Given the description of an element on the screen output the (x, y) to click on. 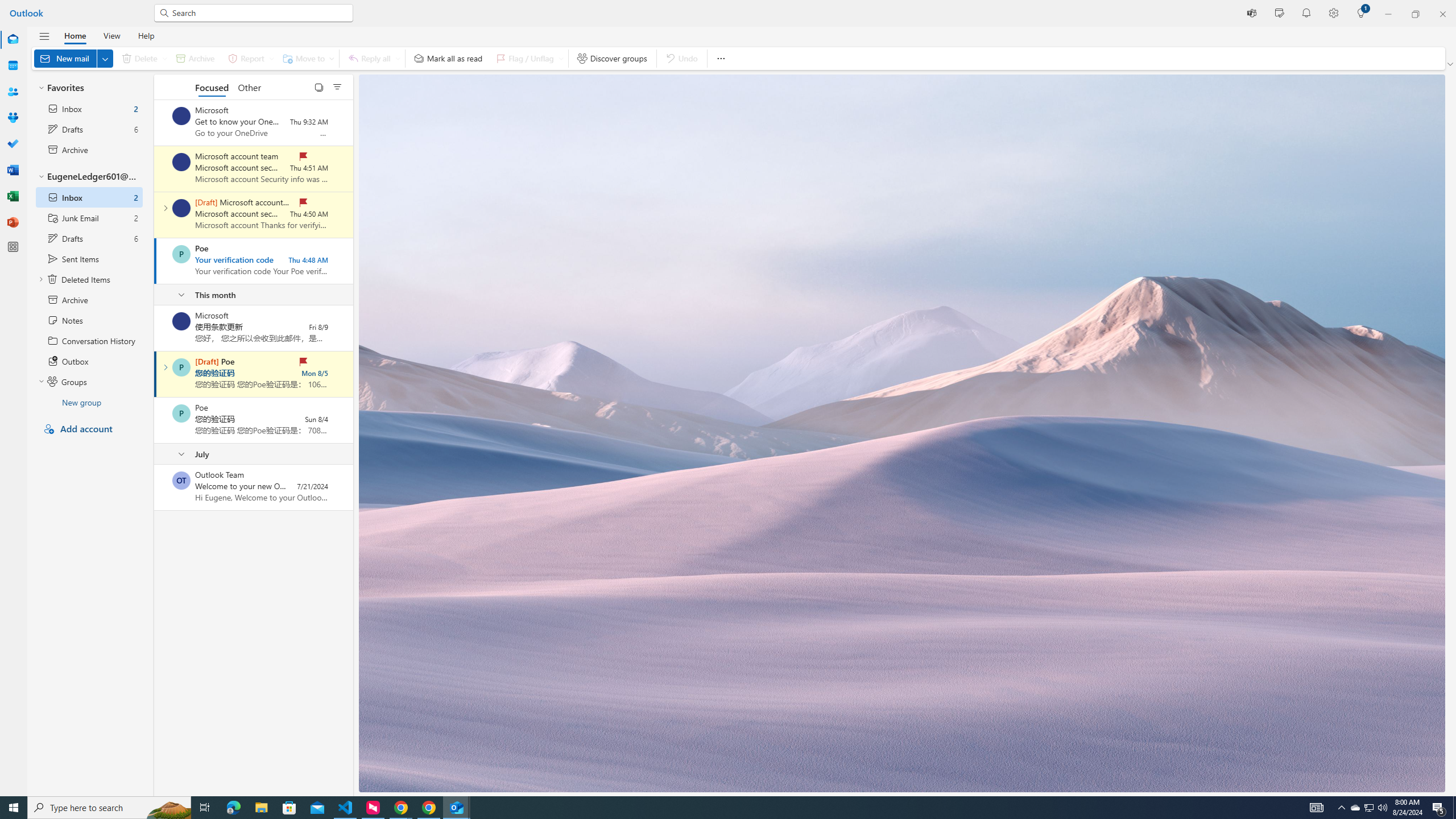
Mark all as read (448, 58)
Excel (12, 196)
Calendar (12, 65)
Reply all (372, 58)
Move to (306, 58)
Mail (12, 39)
Word (12, 170)
Mail (12, 39)
Calendar (12, 65)
Expand to see more respond options (398, 58)
Expand to see delete options (164, 58)
Undo (681, 58)
